Given the description of an element on the screen output the (x, y) to click on. 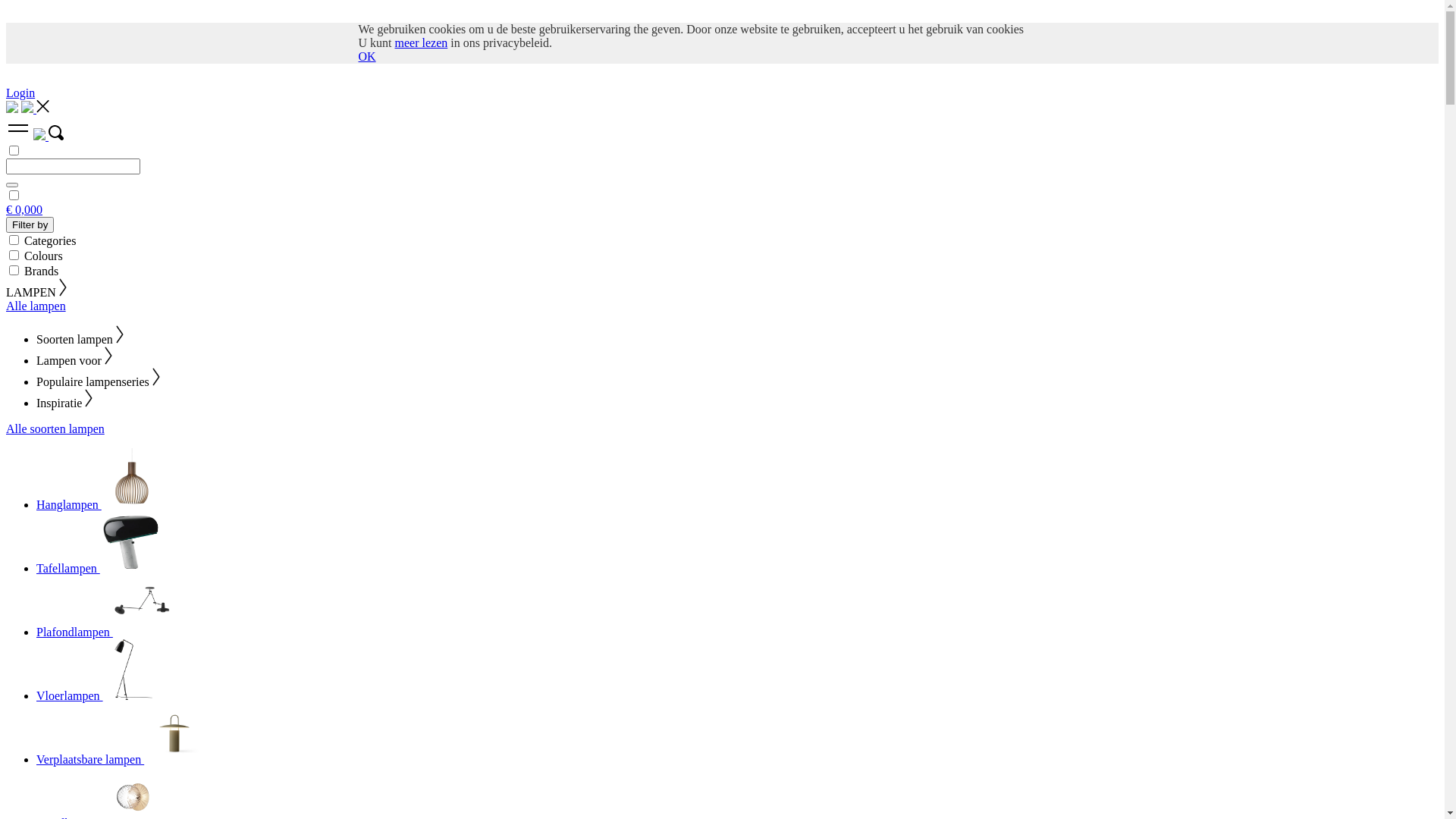
Verplaatsbare lampen Element type: text (120, 759)
Alle lampen Element type: text (35, 305)
Plafondlampen Element type: text (104, 631)
OK Element type: text (366, 56)
Andlight Element type: hover (40, 135)
meer lezen Element type: text (420, 42)
Andlight Element type: hover (28, 108)
Vloerlampen Element type: text (99, 695)
Hanglampen Element type: text (99, 504)
Alle soorten lampen Element type: text (55, 428)
Tafellampen Element type: text (98, 567)
Login Element type: text (20, 92)
Filter by Element type: text (29, 224)
